Given the description of an element on the screen output the (x, y) to click on. 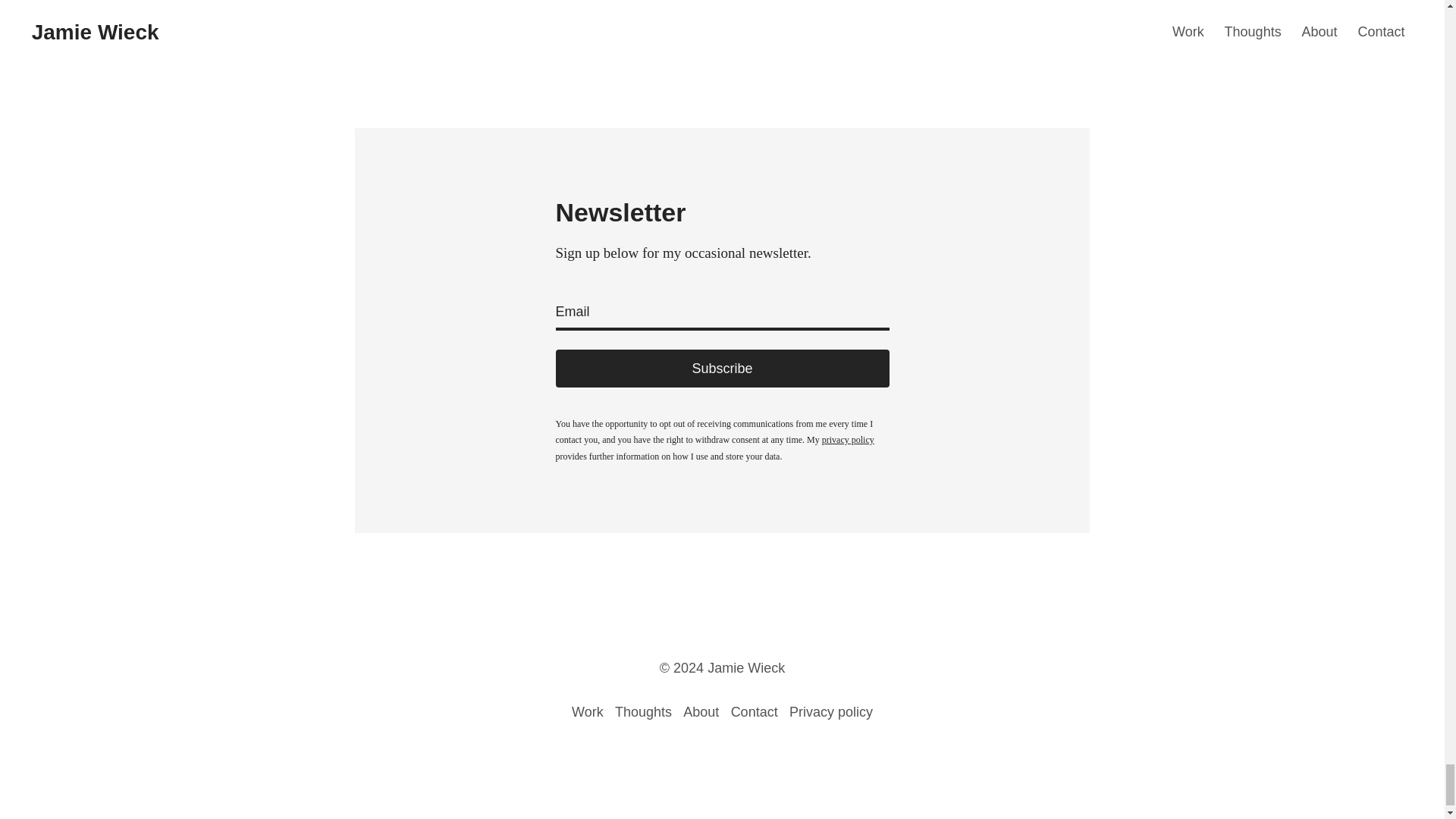
Work (588, 711)
privacy policy (848, 439)
Privacy policy (830, 711)
Contact (753, 711)
About (700, 711)
Subscribe (721, 368)
Thoughts (642, 711)
Subscribe (721, 368)
